Given the description of an element on the screen output the (x, y) to click on. 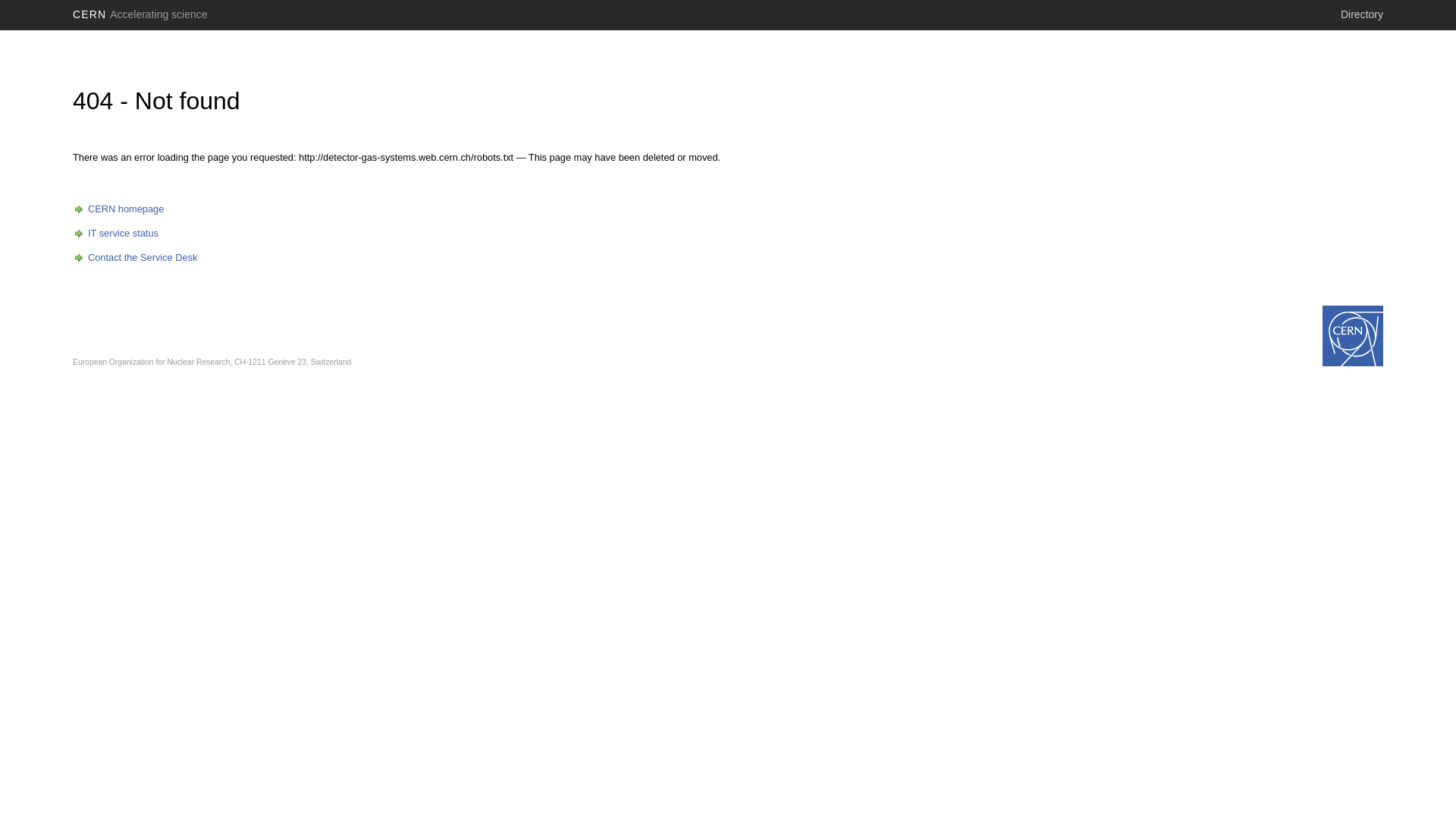
home.cern Element type: hover (1352, 335)
CERN Accelerating science Element type: text (139, 14)
Contact the Service Desk Element type: text (134, 257)
IT service status Element type: text (115, 232)
Directory Element type: text (1361, 14)
CERN homepage Element type: text (117, 208)
